Given the description of an element on the screen output the (x, y) to click on. 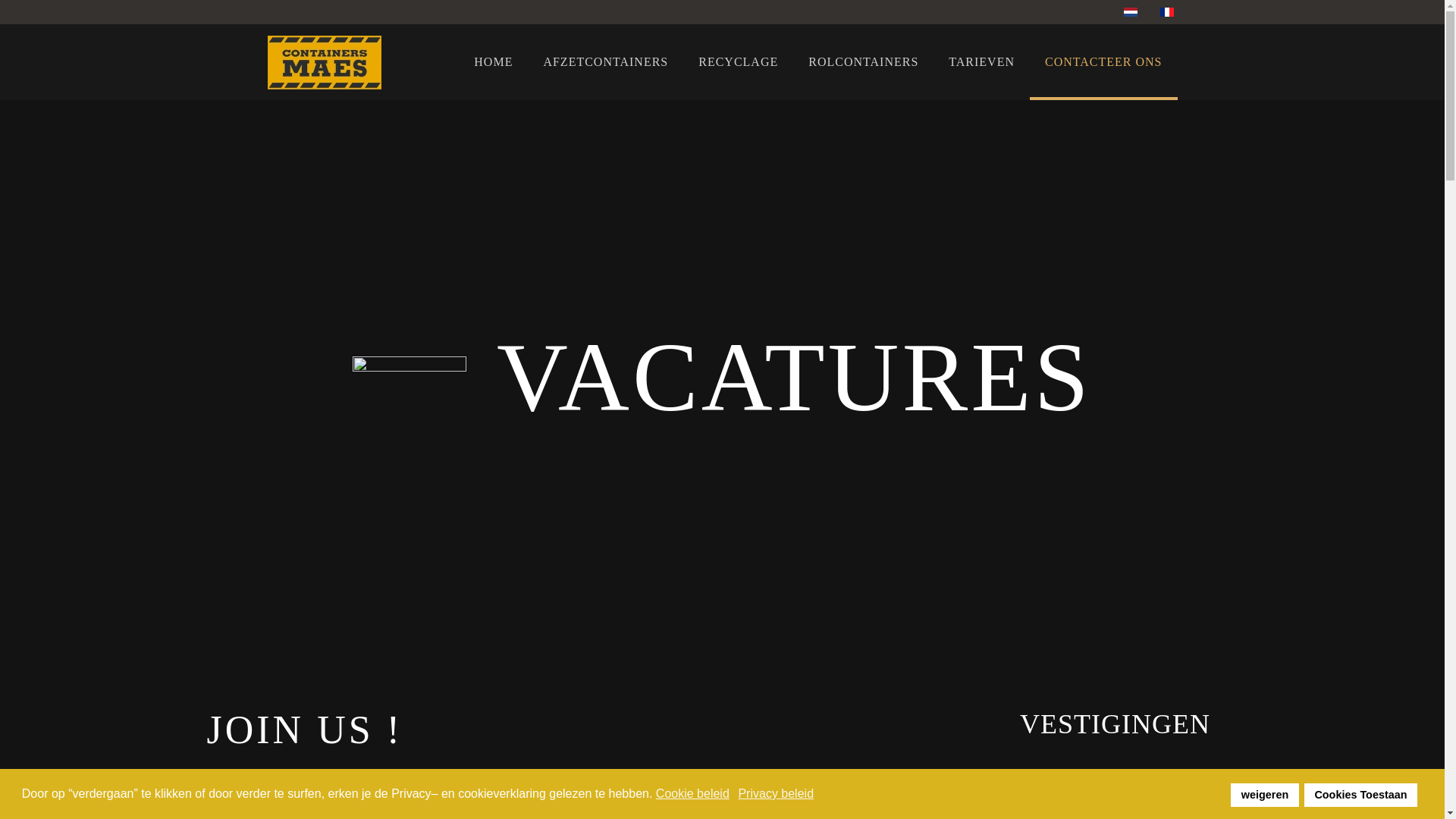
AFZETCONTAINERS Element type: text (605, 62)
Cookie beleid Element type: text (693, 793)
weigeren Element type: text (1264, 794)
TARIEVEN Element type: text (981, 62)
HOME Element type: text (492, 62)
RECYCLAGE Element type: text (738, 62)
CONTACTEER ONS Element type: text (1103, 62)
Nederlands Element type: hover (1130, 11)
ROLCONTAINERS Element type: text (863, 62)
Cookies Toestaan Element type: text (1360, 794)
Privacy beleid Element type: text (776, 793)
